Given the description of an element on the screen output the (x, y) to click on. 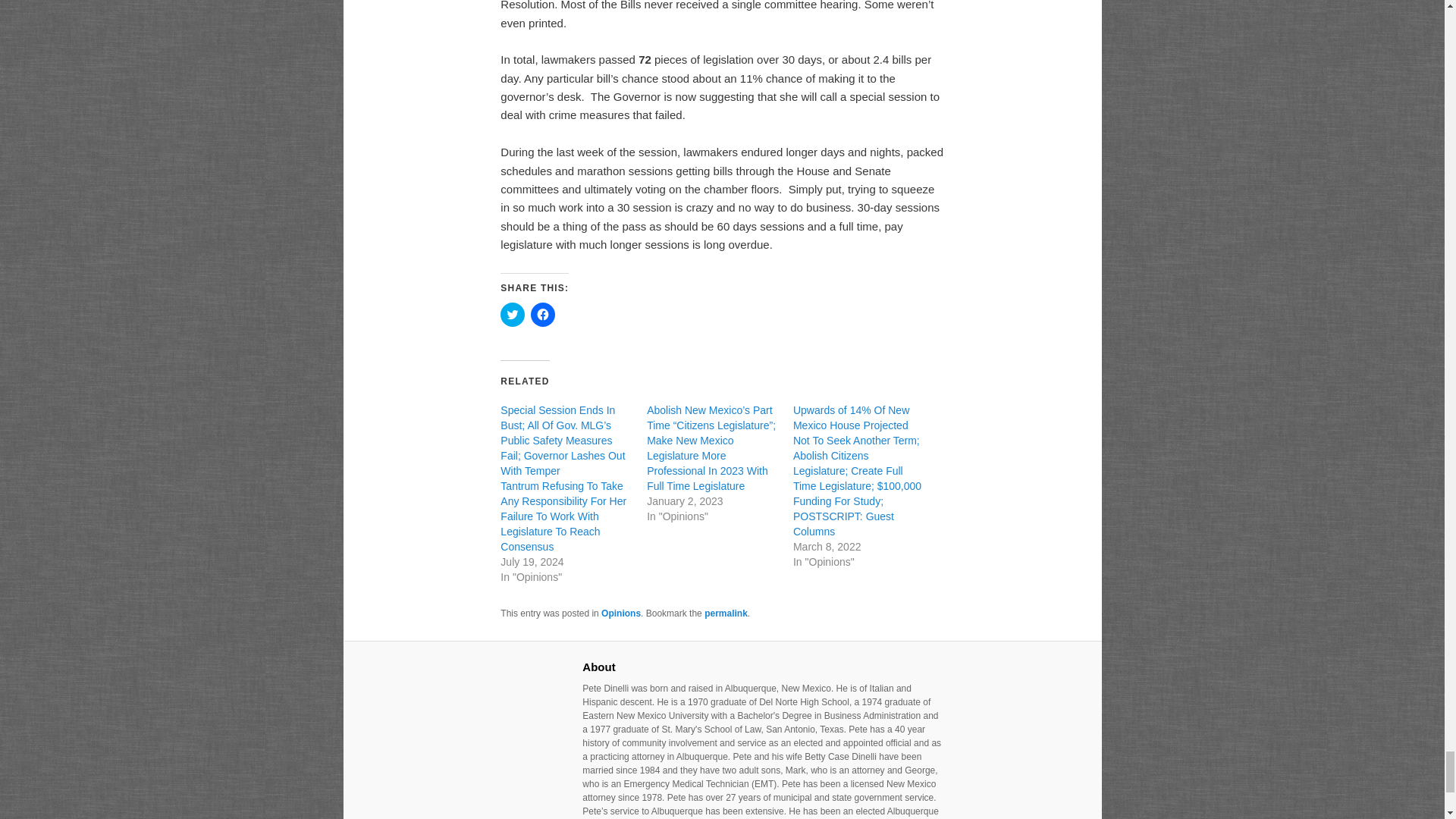
permalink (726, 613)
Click to share on Twitter (512, 314)
Opinions (620, 613)
Click to share on Facebook (542, 314)
